Given the description of an element on the screen output the (x, y) to click on. 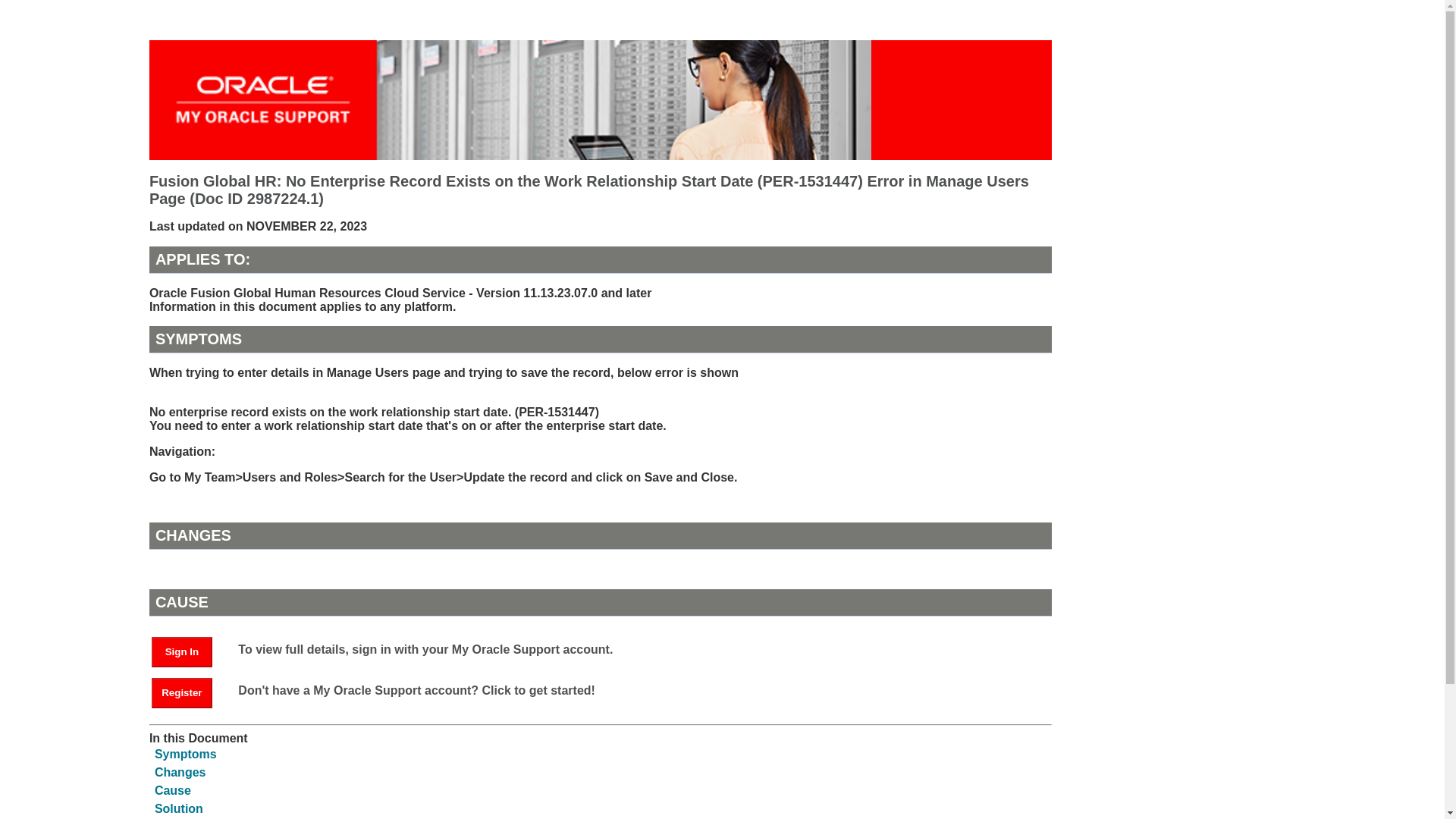
Cause (172, 789)
Register (189, 691)
Changes (180, 771)
Register (181, 693)
Solution (178, 808)
Sign In (189, 650)
Sign In (181, 652)
Symptoms (185, 753)
